Given the description of an element on the screen output the (x, y) to click on. 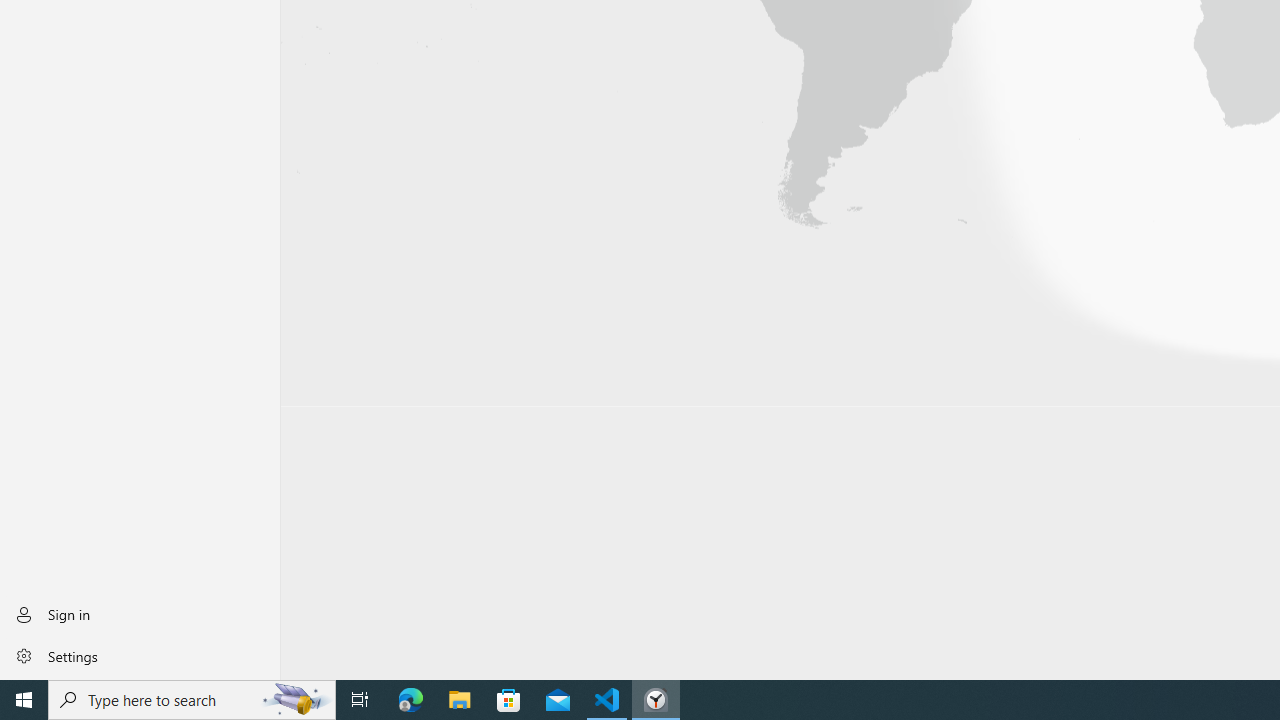
Clock - 1 running window (656, 699)
Sign in (139, 614)
Settings (139, 655)
